Given the description of an element on the screen output the (x, y) to click on. 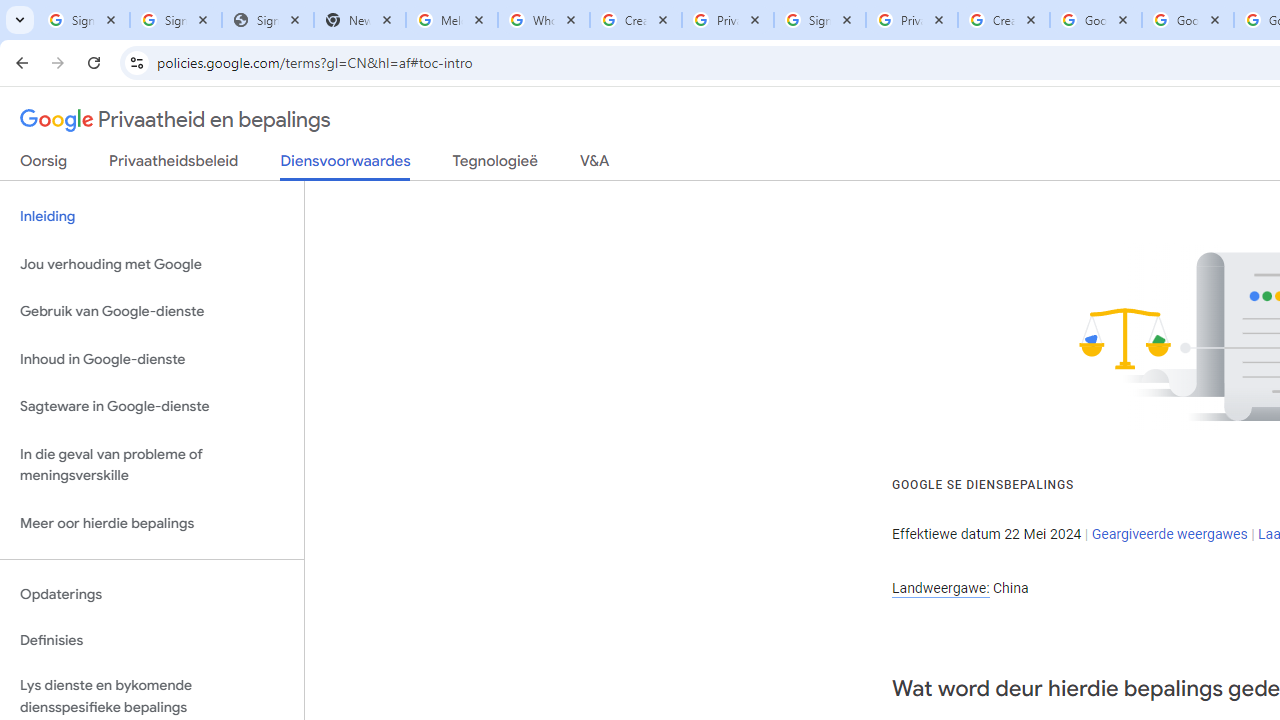
Redo Apply Quick Style (341, 31)
Preview Results (1202, 161)
Greeting Line... (833, 161)
Highlight Merge Fields (664, 161)
Start Mail Merge (328, 161)
Insert Merge Field (927, 161)
Edit Recipient List... (532, 161)
Undo Apply Quick Style Set (280, 31)
